Given the description of an element on the screen output the (x, y) to click on. 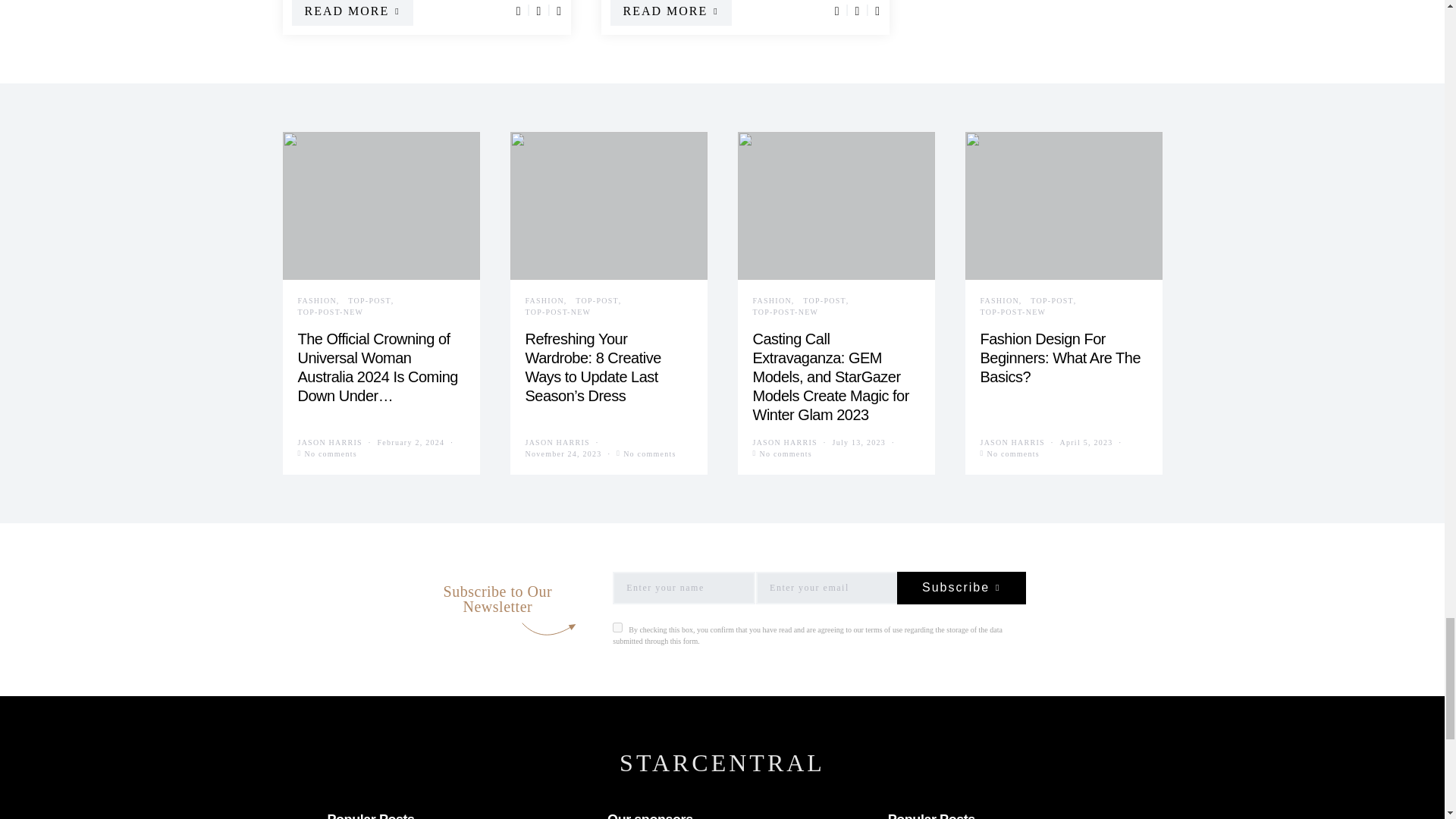
View all posts by Jason Harris (329, 441)
on (617, 627)
